Given the description of an element on the screen output the (x, y) to click on. 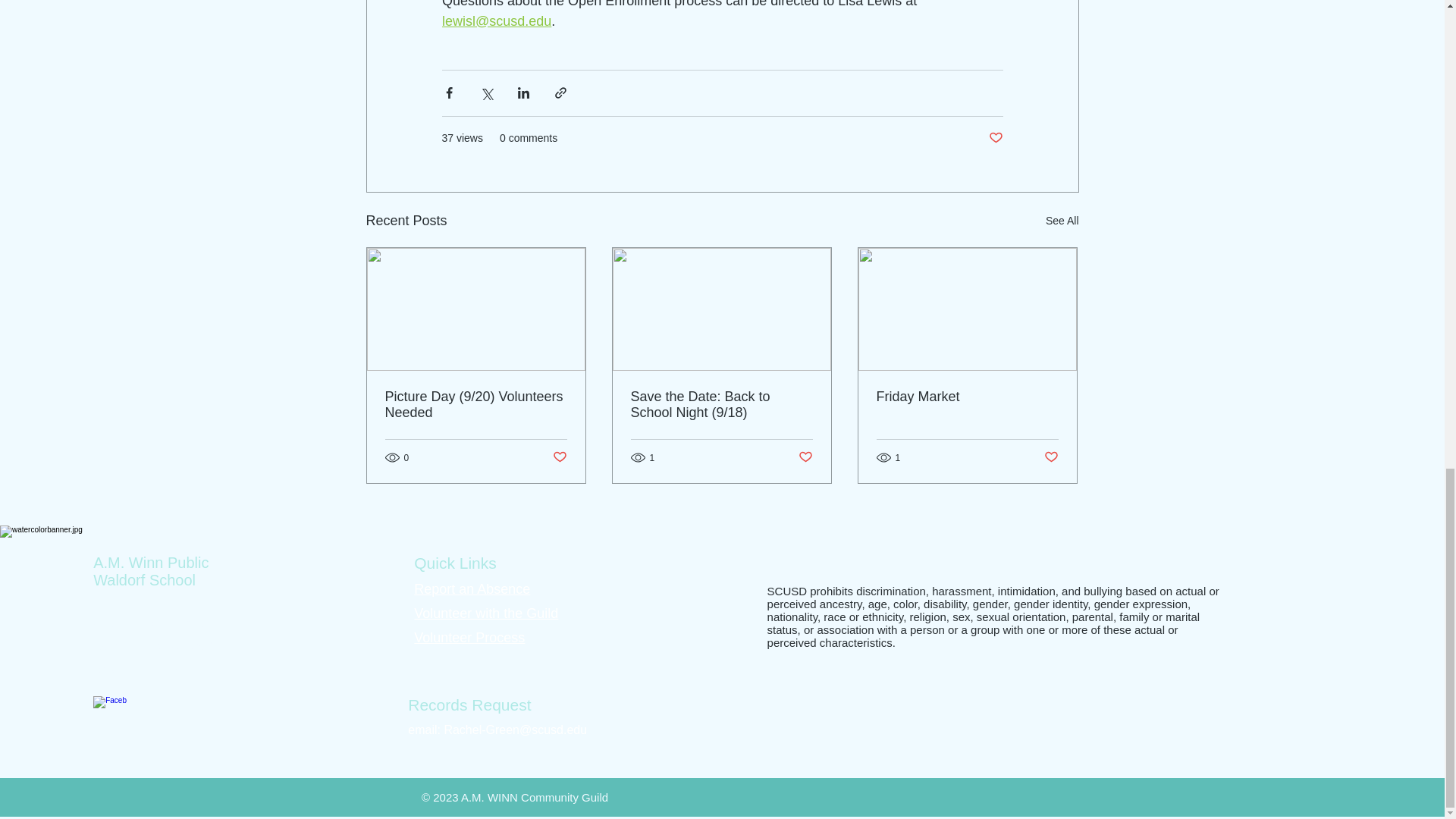
Post not marked as liked (804, 457)
See All (1061, 220)
Post not marked as liked (995, 138)
Post not marked as liked (558, 457)
